Given the description of an element on the screen output the (x, y) to click on. 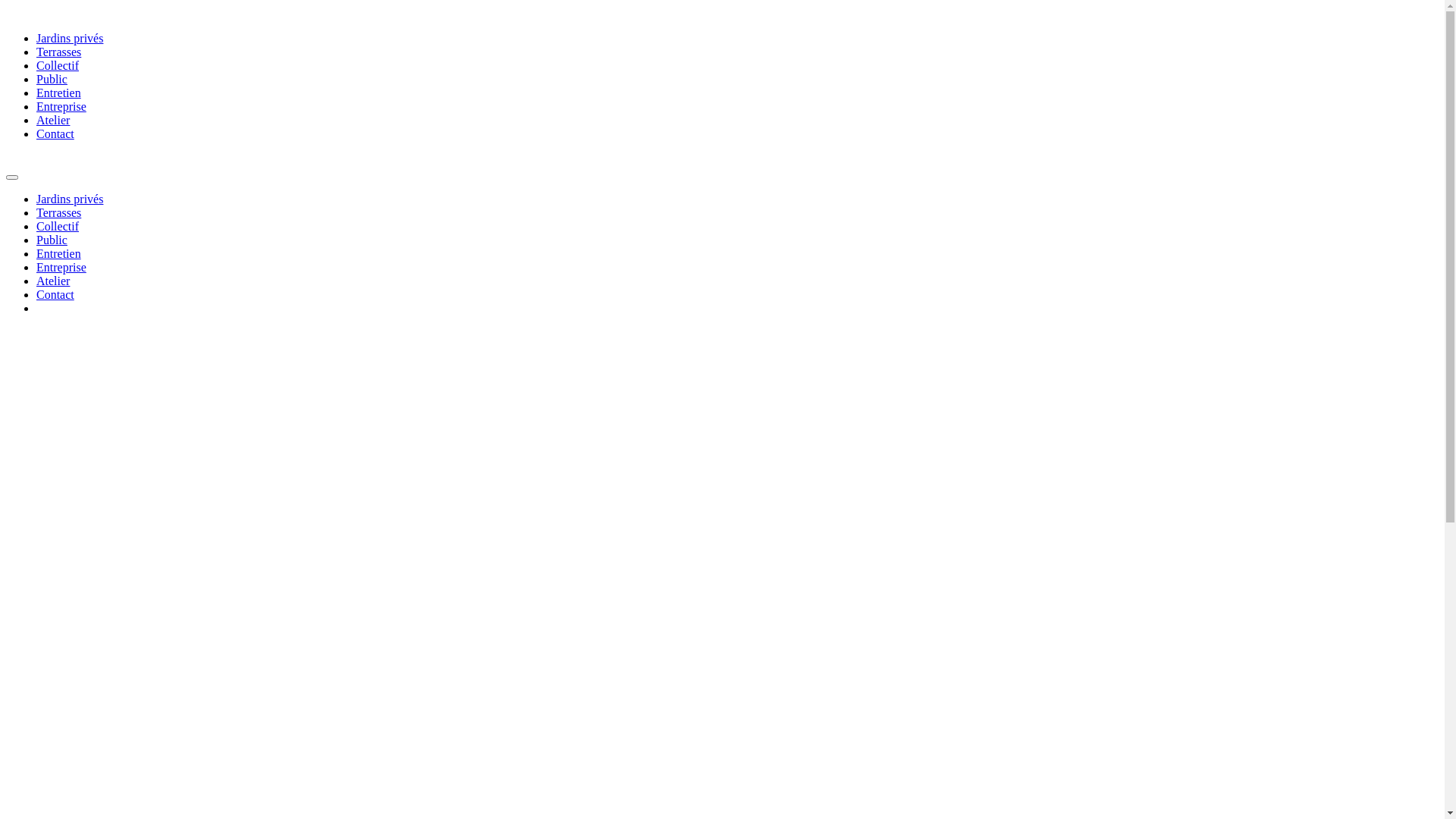
Atelier Element type: text (52, 119)
Entreprise Element type: text (61, 106)
Contact Element type: text (55, 294)
Entretien Element type: text (58, 92)
Entreprise Element type: text (61, 266)
Collectif Element type: text (57, 65)
Collectif Element type: text (57, 225)
Terrasses Element type: text (58, 212)
Public Element type: text (51, 239)
Terrasses Element type: text (58, 51)
Public Element type: text (51, 78)
Entretien Element type: text (58, 253)
Atelier Element type: text (52, 280)
Contact Element type: text (55, 133)
